Given the description of an element on the screen output the (x, y) to click on. 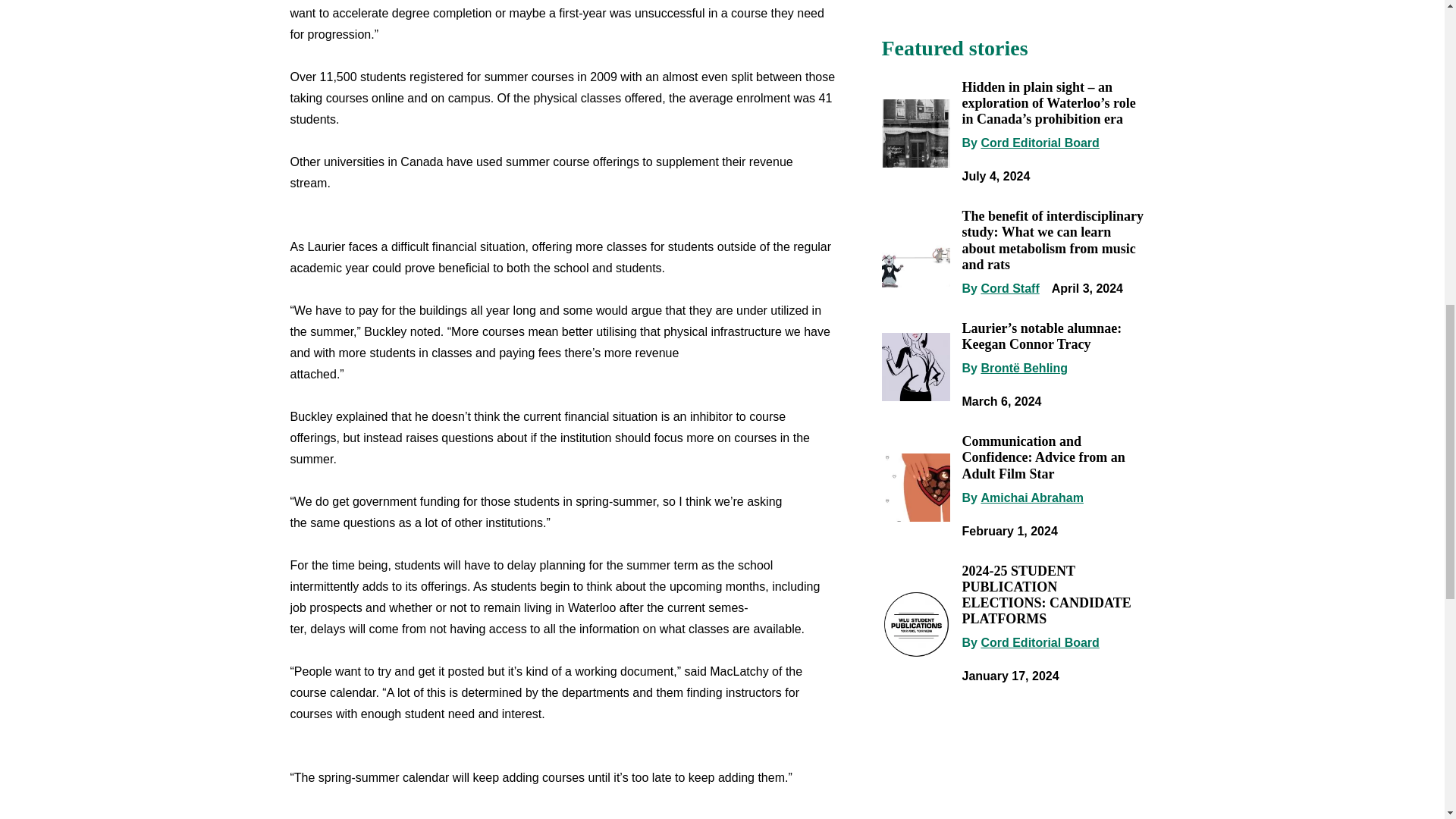
Posts by Cord Editorial Board (1039, 642)
Posts by Cord Editorial Board (1039, 142)
Posts by Cord Staff (1009, 287)
Posts by Amichai Abraham (1031, 497)
